Given the description of an element on the screen output the (x, y) to click on. 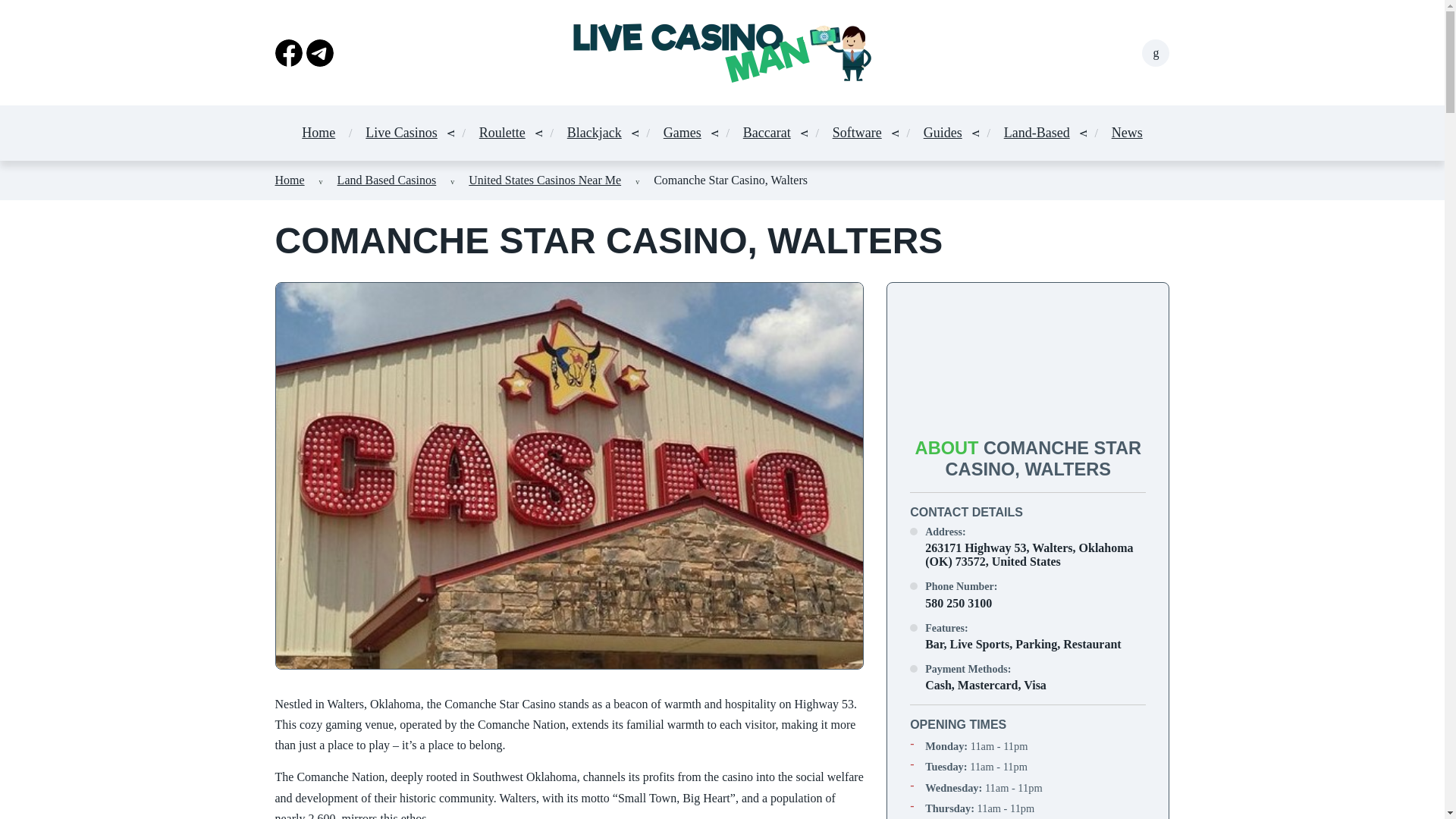
United States Casinos Near Me (544, 179)
Home (289, 179)
News (386, 179)
Live Casinos (401, 132)
Roulette (502, 132)
Comanche Star Casino, Walters (730, 179)
Home (317, 132)
